Given the description of an element on the screen output the (x, y) to click on. 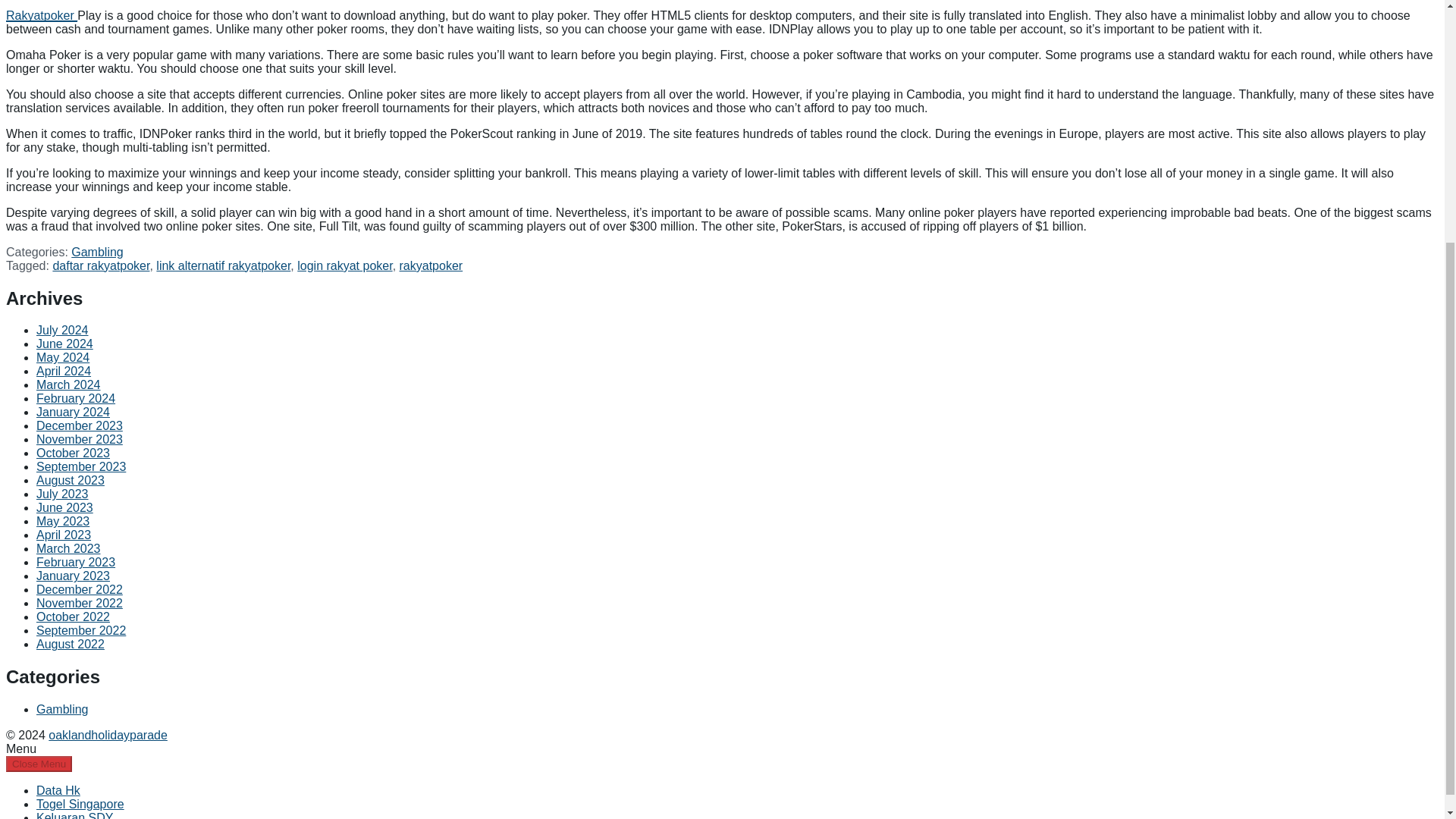
December 2022 (79, 589)
September 2022 (80, 630)
Close Menu (38, 763)
oaklandholidayparade (107, 735)
link alternatif rakyatpoker (222, 265)
July 2023 (62, 493)
April 2023 (63, 534)
May 2023 (62, 521)
login rakyat poker (344, 265)
rakyatpoker (430, 265)
September 2023 (80, 466)
December 2023 (79, 425)
Gambling (61, 708)
March 2024 (68, 384)
July 2024 (62, 329)
